Given the description of an element on the screen output the (x, y) to click on. 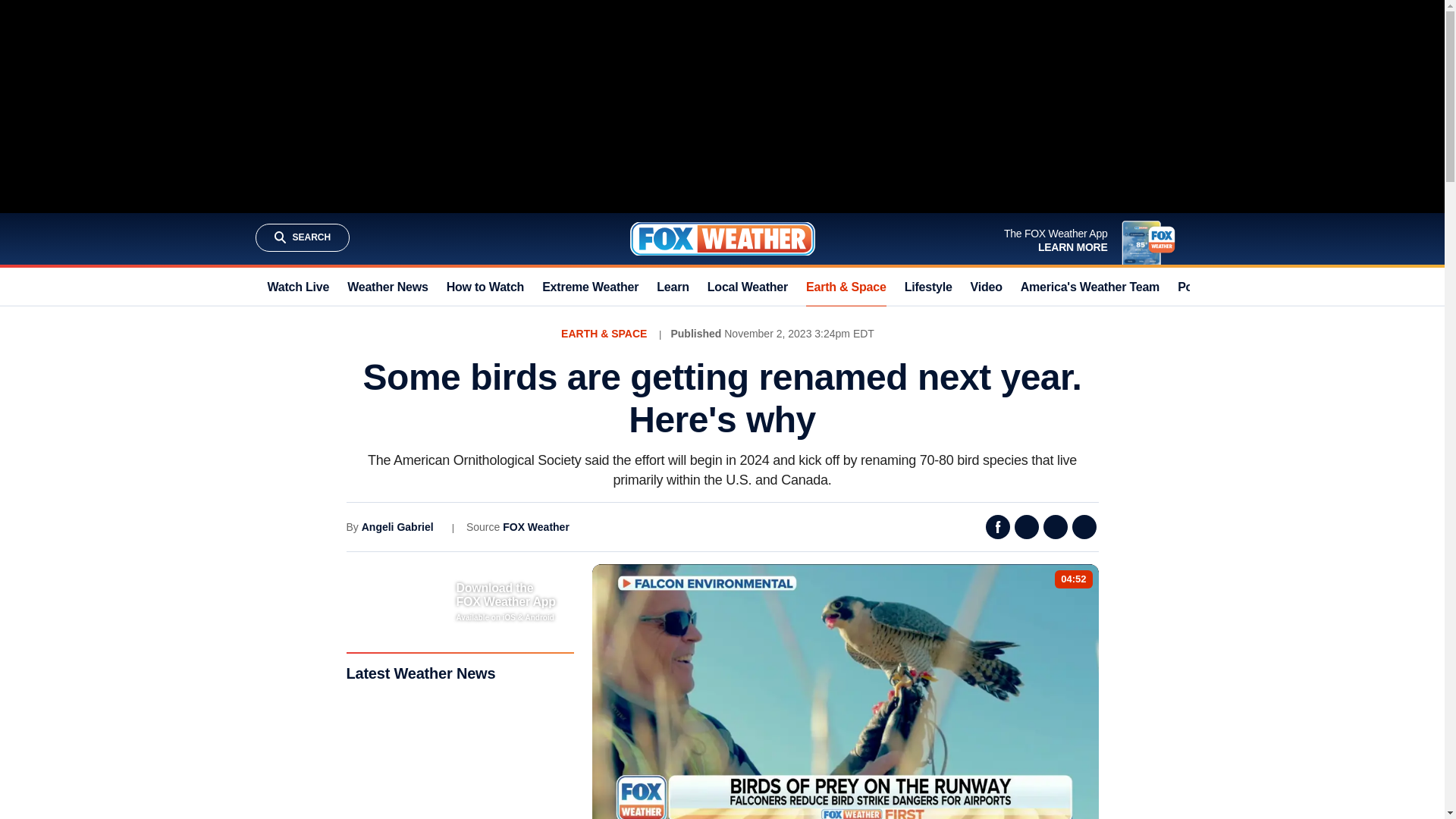
Twitter (1026, 526)
Email (1055, 526)
SEARCH (302, 237)
Extreme Weather (590, 286)
Fox Weather (720, 238)
Watch Live (297, 286)
Local Weather (747, 286)
Angeli Gabriel (397, 526)
FOX Weather (535, 526)
04:52 (1073, 579)
Weather News (387, 286)
Facebook (997, 526)
How to Watch (485, 286)
America's Weather Team (1089, 286)
Podcast (1200, 286)
